Given the description of an element on the screen output the (x, y) to click on. 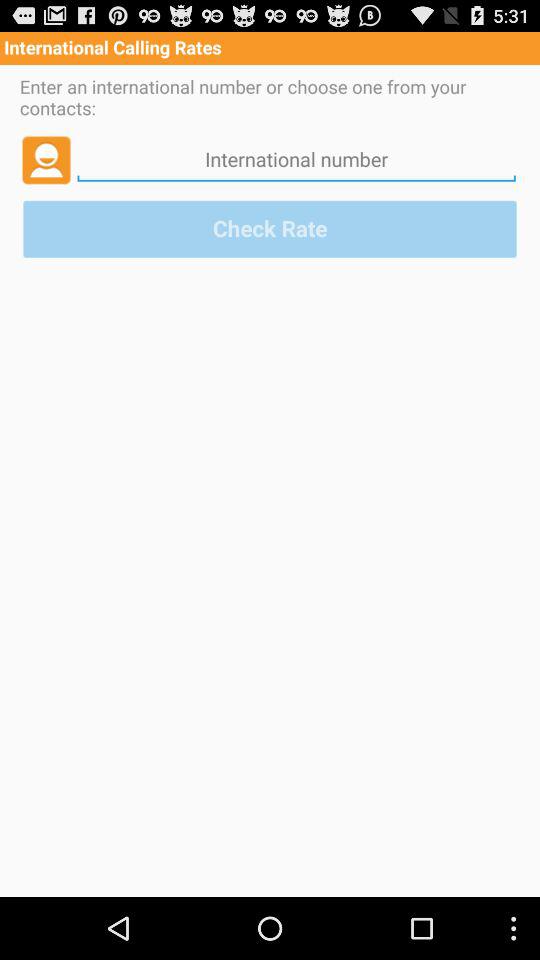
type international number (296, 159)
